Given the description of an element on the screen output the (x, y) to click on. 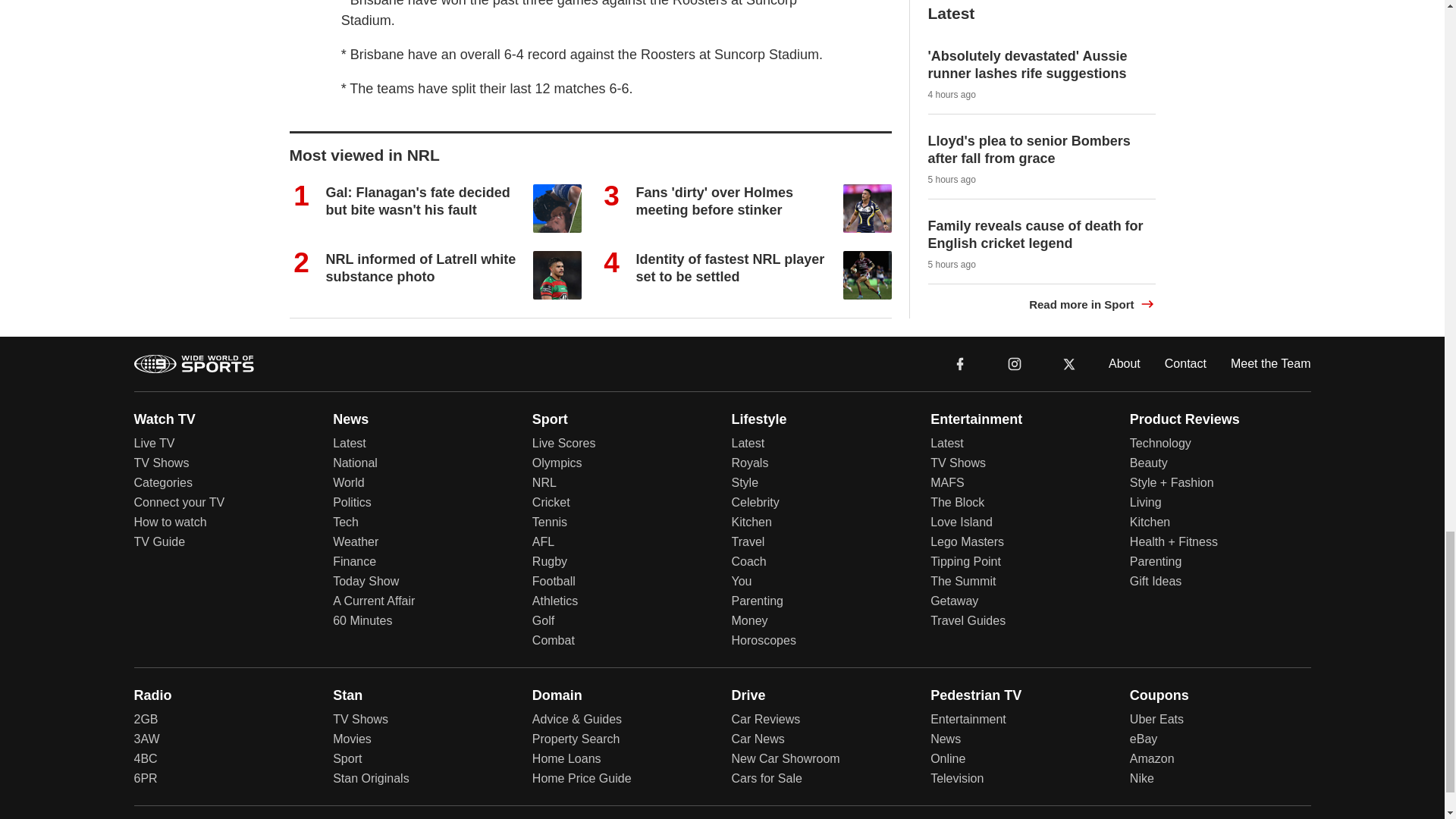
x (1069, 362)
x (1069, 362)
NRL informed of Latrell white substance photo (421, 267)
Gal: Flanagan's fate decided but bite wasn't his fault (418, 201)
x (1069, 363)
Identity of fastest NRL player set to be settled (729, 267)
facebook (959, 362)
Fans 'dirty' over Holmes meeting before stinker (713, 201)
instagram (1013, 362)
facebook (959, 362)
